Given the description of an element on the screen output the (x, y) to click on. 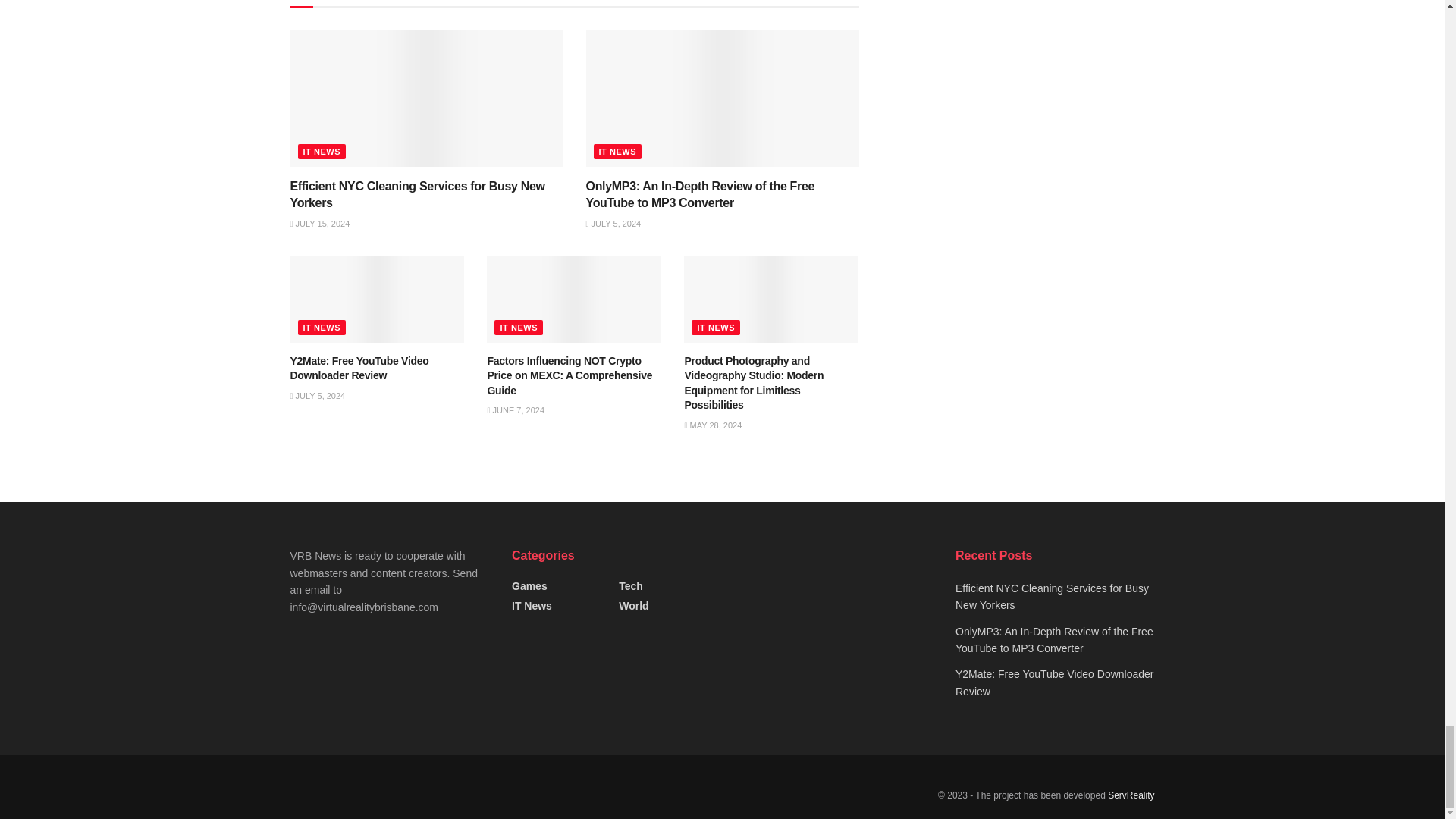
Efficient NYC Cleaning Services for Busy New Yorkers (416, 193)
IT NEWS (321, 151)
JULY 15, 2024 (319, 223)
IT NEWS (617, 151)
JULY 5, 2024 (612, 223)
